Given the description of an element on the screen output the (x, y) to click on. 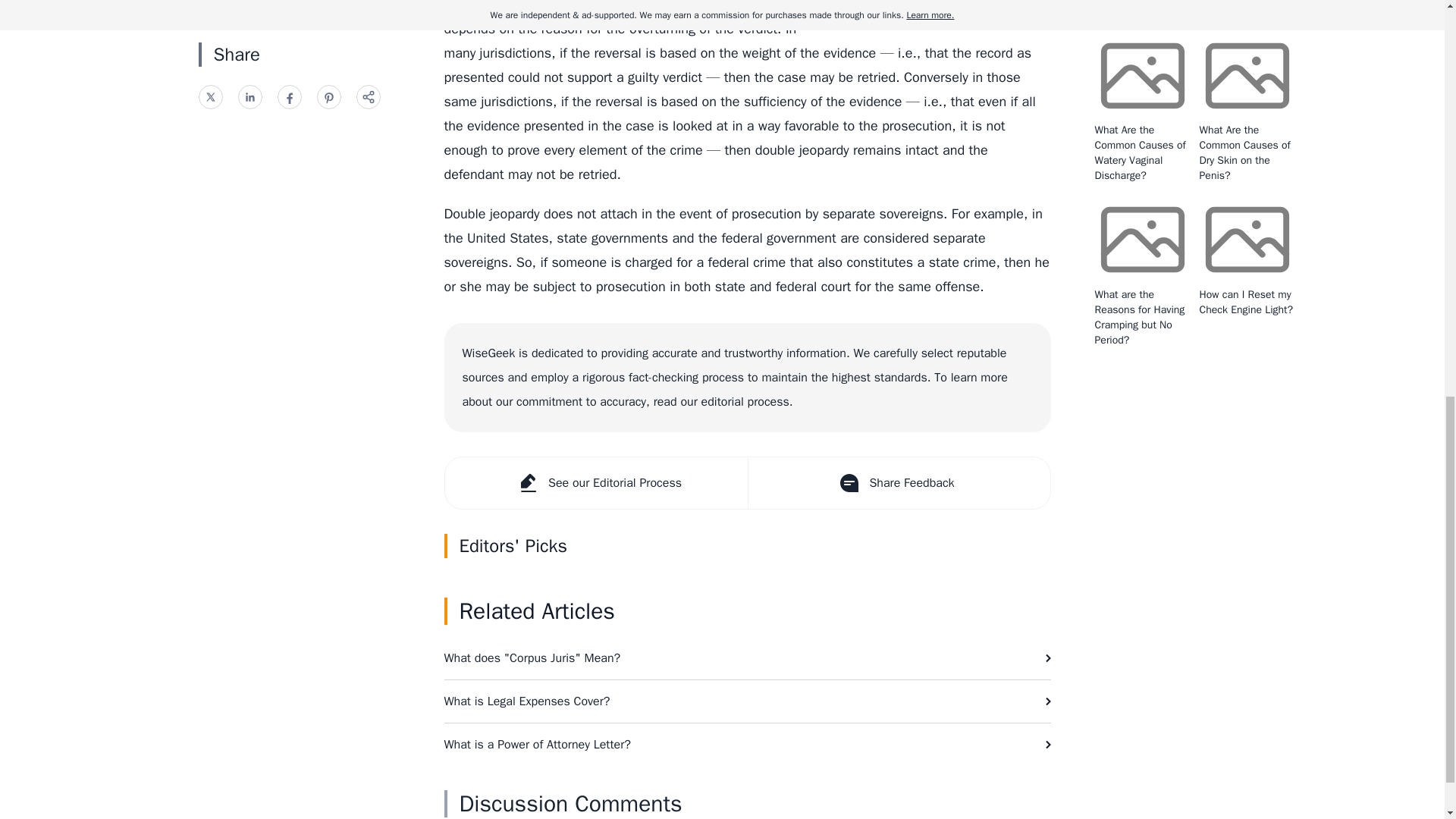
What is Legal Expenses Cover? (747, 701)
See our Editorial Process (595, 482)
Share Feedback (898, 482)
What is a Power of Attorney Letter? (747, 744)
What does "Corpus Juris" Mean? (747, 658)
